Given the description of an element on the screen output the (x, y) to click on. 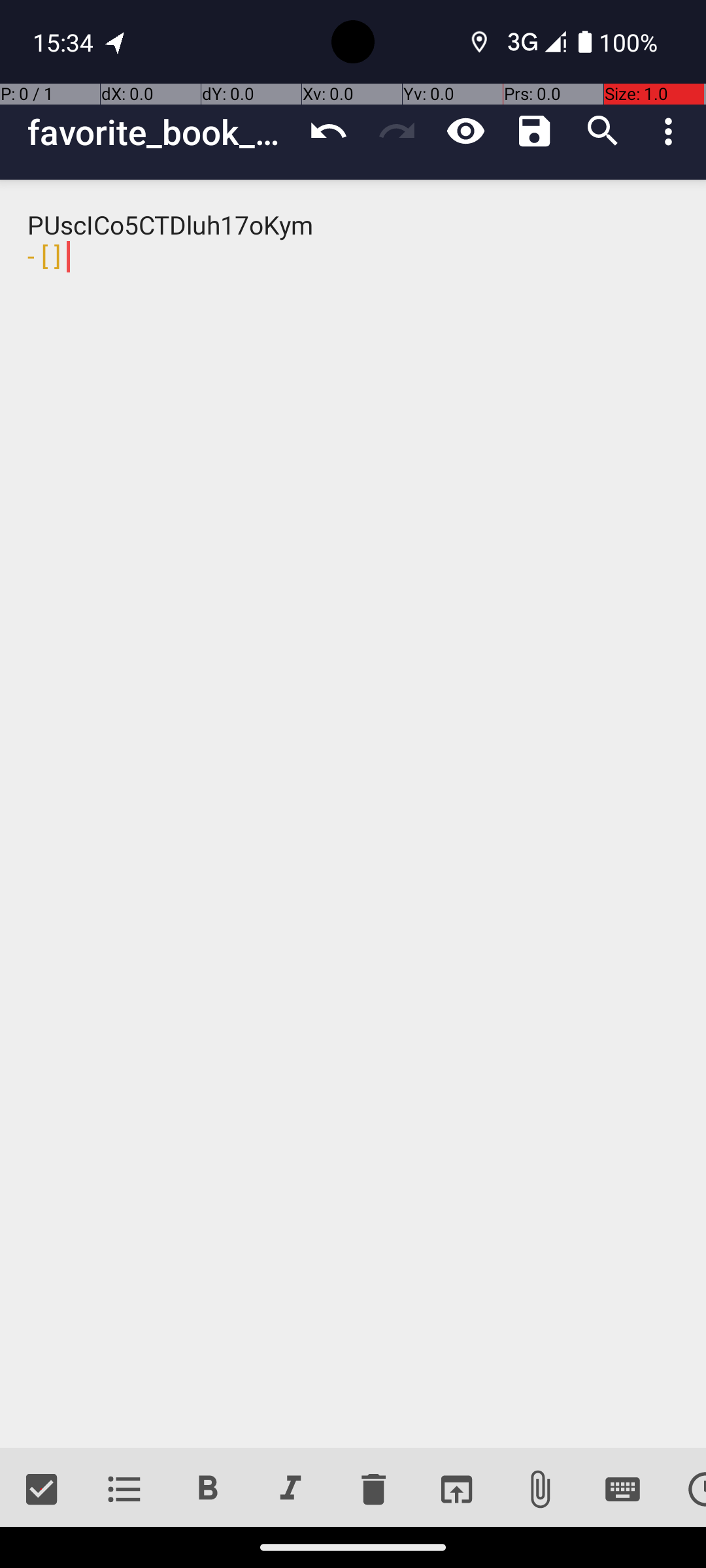
favorite_book_quotes_final Element type: android.widget.TextView (160, 131)
PUscICo5CTDluh17oKym
- [ ]  Element type: android.widget.EditText (353, 813)
